Given the description of an element on the screen output the (x, y) to click on. 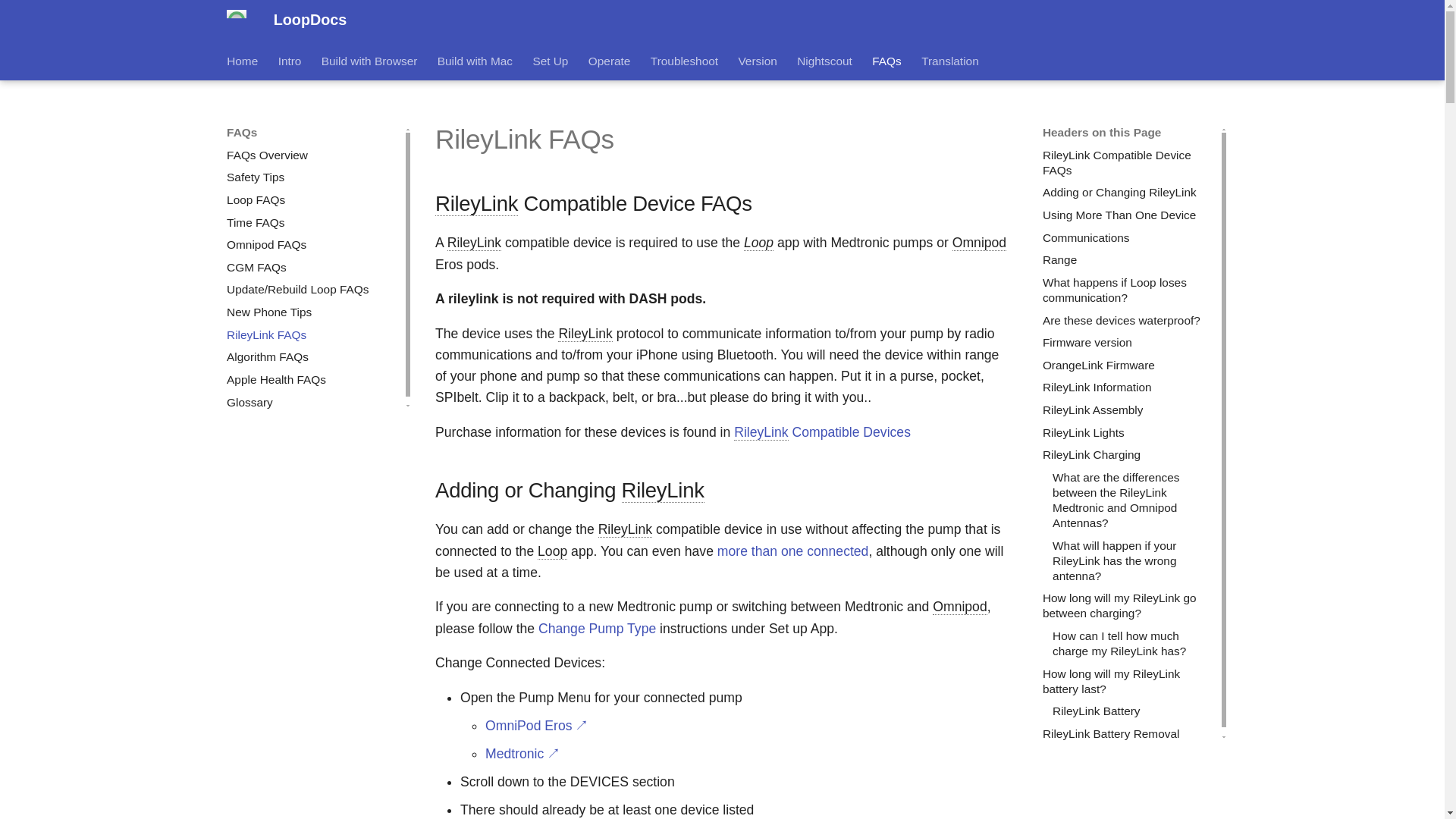
Home (242, 60)
Translation (949, 60)
LoopDocs (236, 19)
Set Up (549, 60)
Version (757, 60)
Build with Browser (369, 60)
Build with Mac (475, 60)
Operate (609, 60)
Nightscout (823, 60)
FAQs (886, 60)
Intro (289, 60)
Troubleshoot (683, 60)
